Given the description of an element on the screen output the (x, y) to click on. 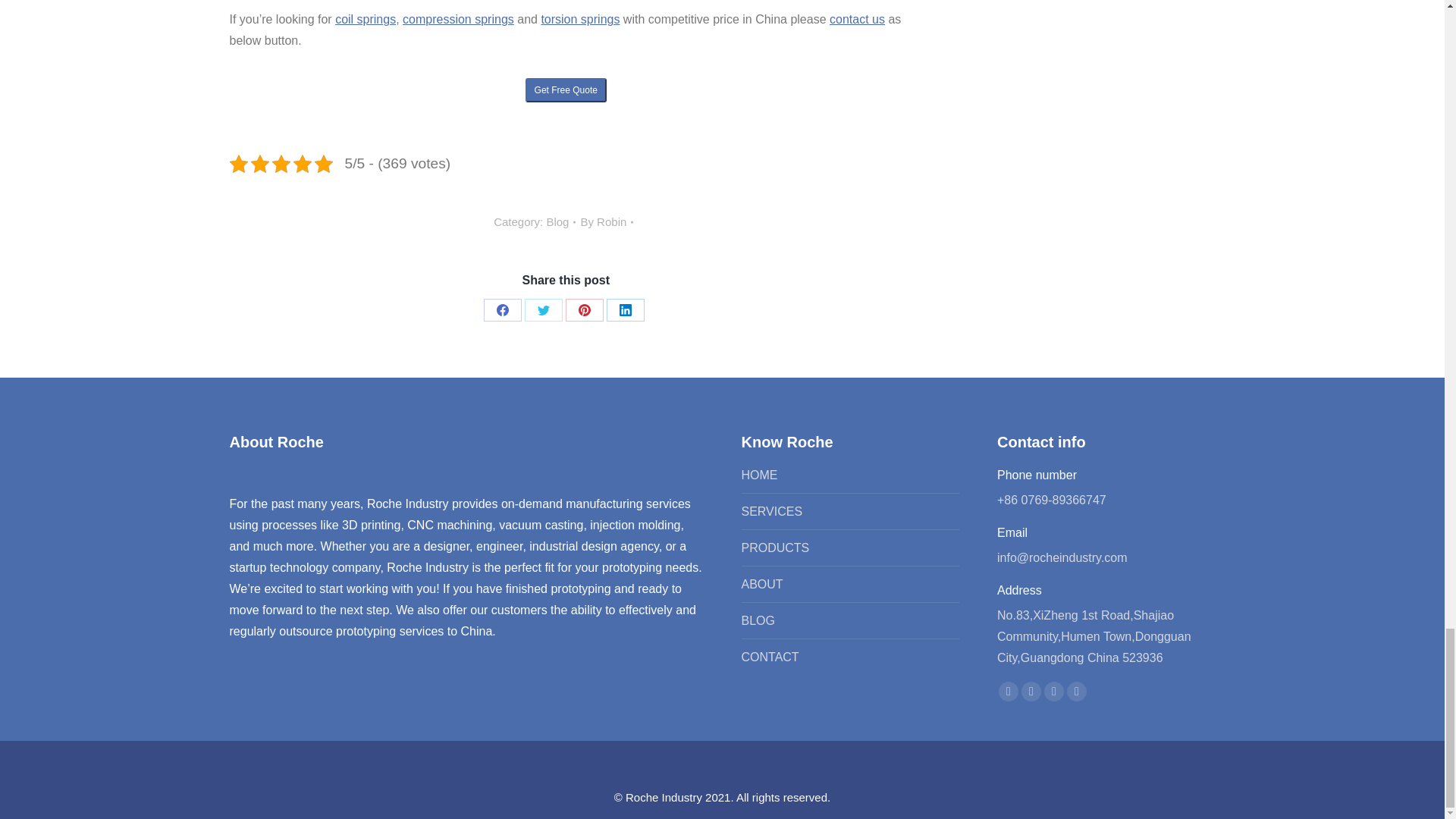
View all posts by Robin (606, 221)
Facebook page opens in new window (1007, 691)
LinkedIn (626, 309)
Facebook (502, 309)
Linkedin page opens in new window (1053, 691)
Twitter page opens in new window (1031, 691)
Pinterest (585, 309)
Twitter (543, 309)
